Given the description of an element on the screen output the (x, y) to click on. 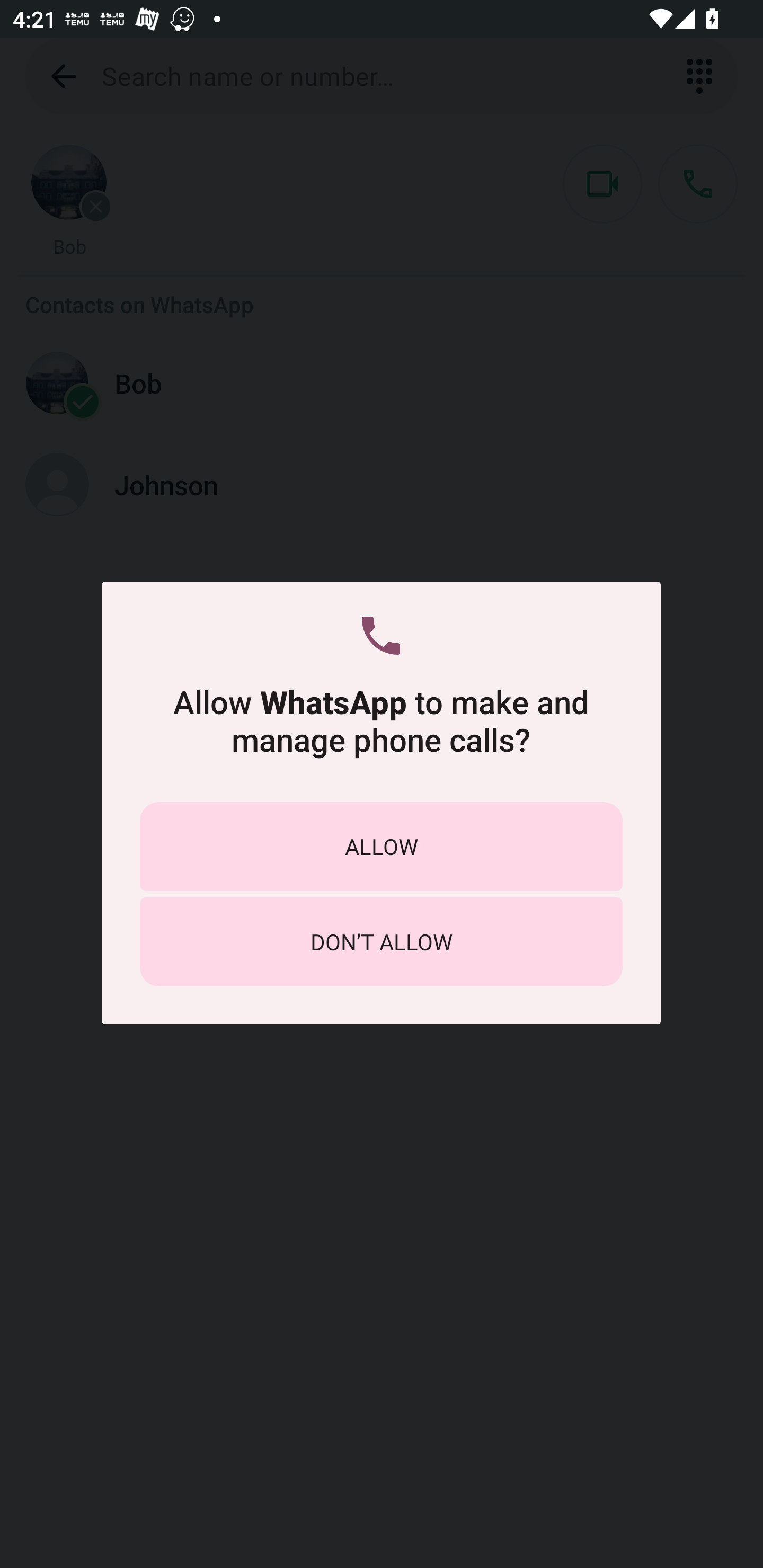
ALLOW (380, 845)
DON’T ALLOW (380, 941)
